Given the description of an element on the screen output the (x, y) to click on. 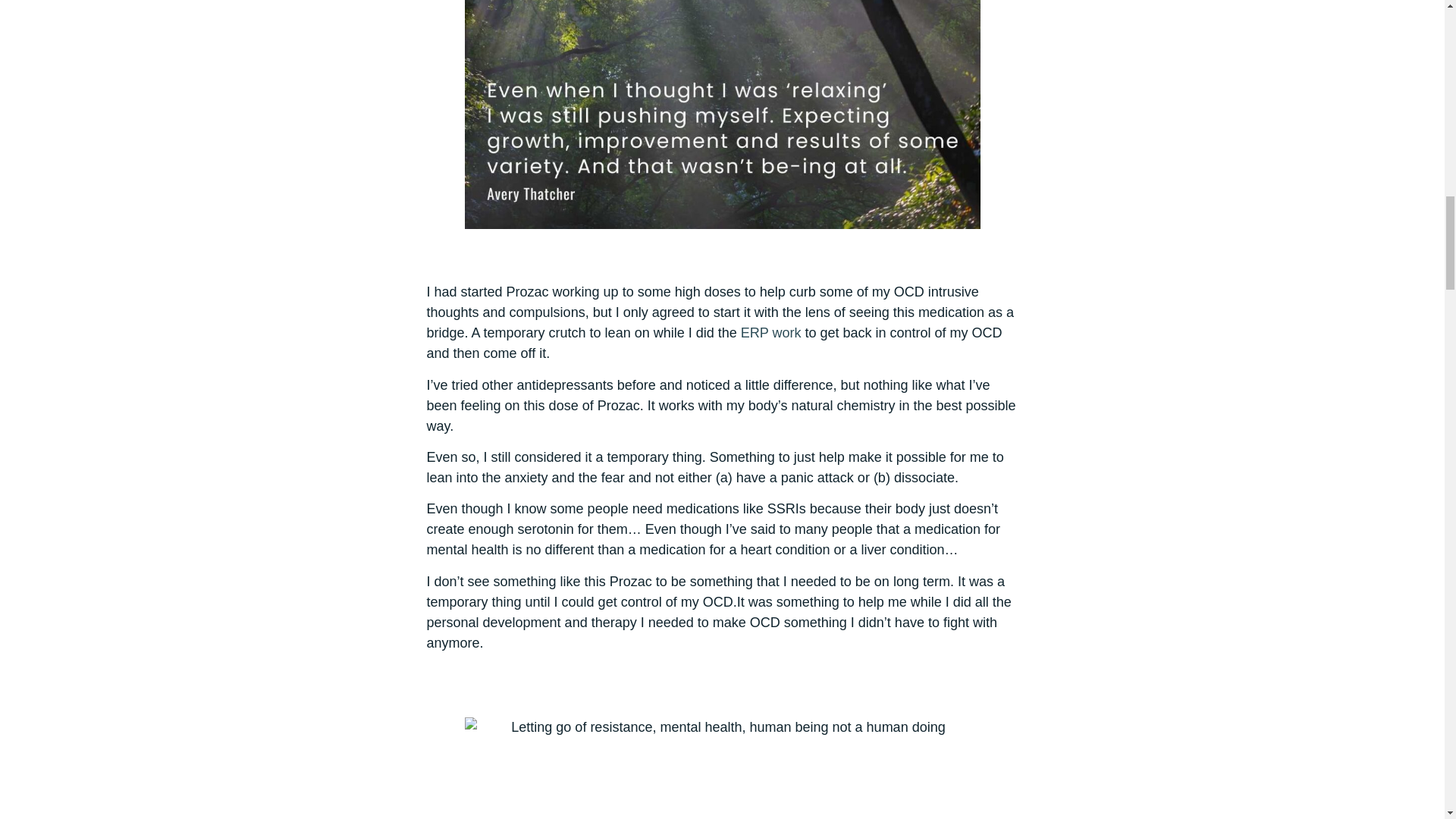
ERP work (771, 332)
